Given the description of an element on the screen output the (x, y) to click on. 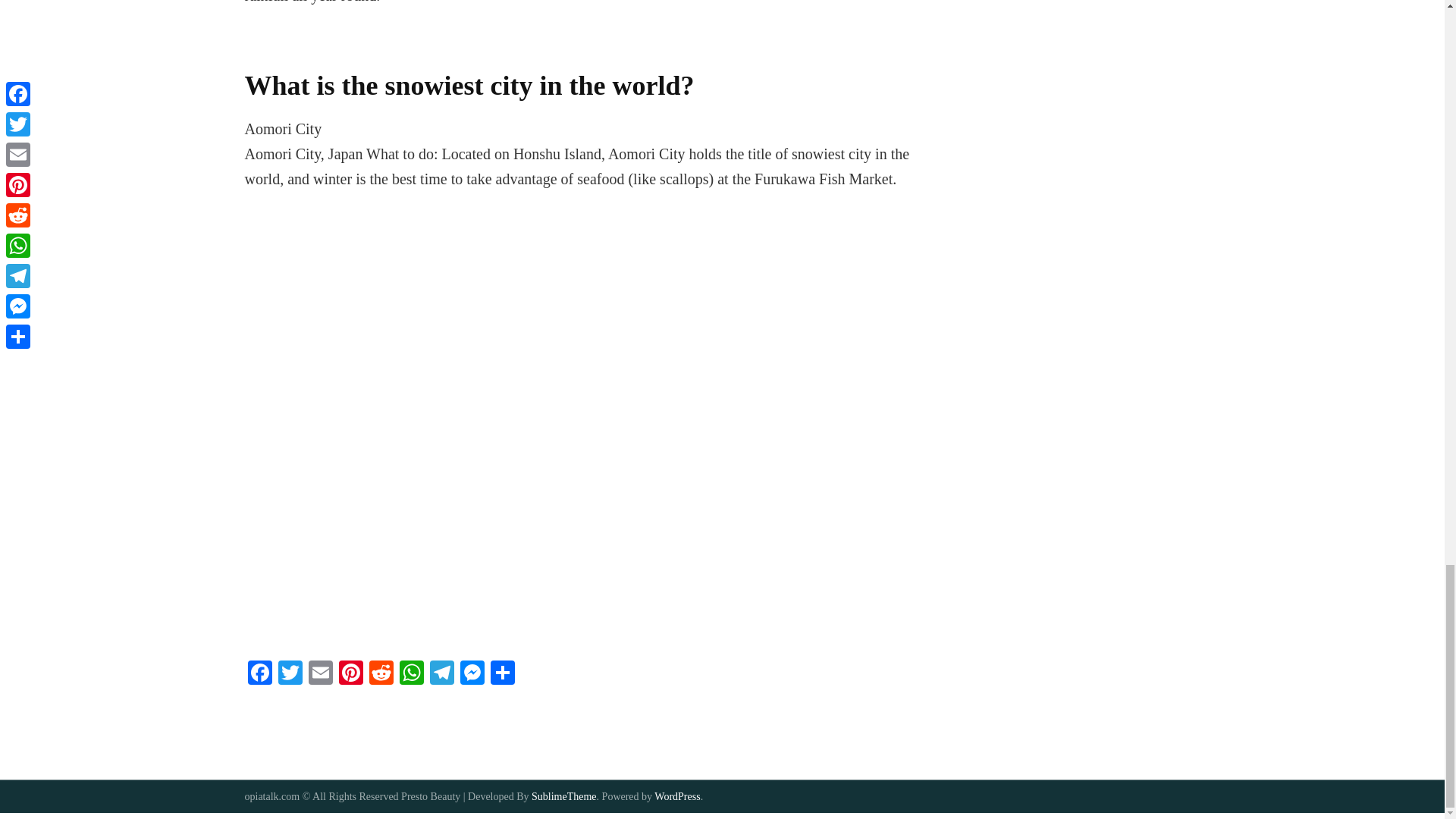
Messenger (471, 674)
Twitter (289, 674)
Reddit (380, 674)
Telegram (441, 674)
Pinterest (349, 674)
WhatsApp (411, 674)
Facebook (259, 674)
Facebook (259, 674)
Email (319, 674)
